Given the description of an element on the screen output the (x, y) to click on. 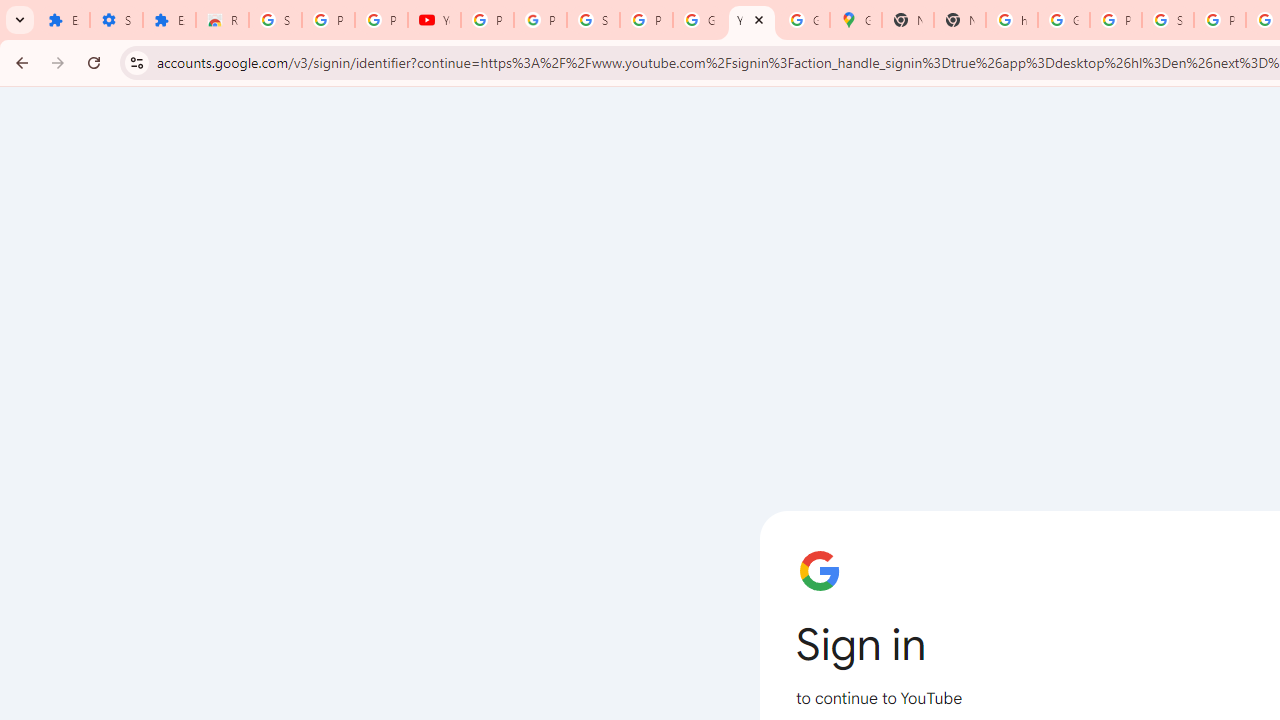
Sign in - Google Accounts (275, 20)
Extensions (63, 20)
YouTube (434, 20)
Google Account (699, 20)
Reviews: Helix Fruit Jump Arcade Game (222, 20)
https://scholar.google.com/ (1011, 20)
YouTube (751, 20)
